Given the description of an element on the screen output the (x, y) to click on. 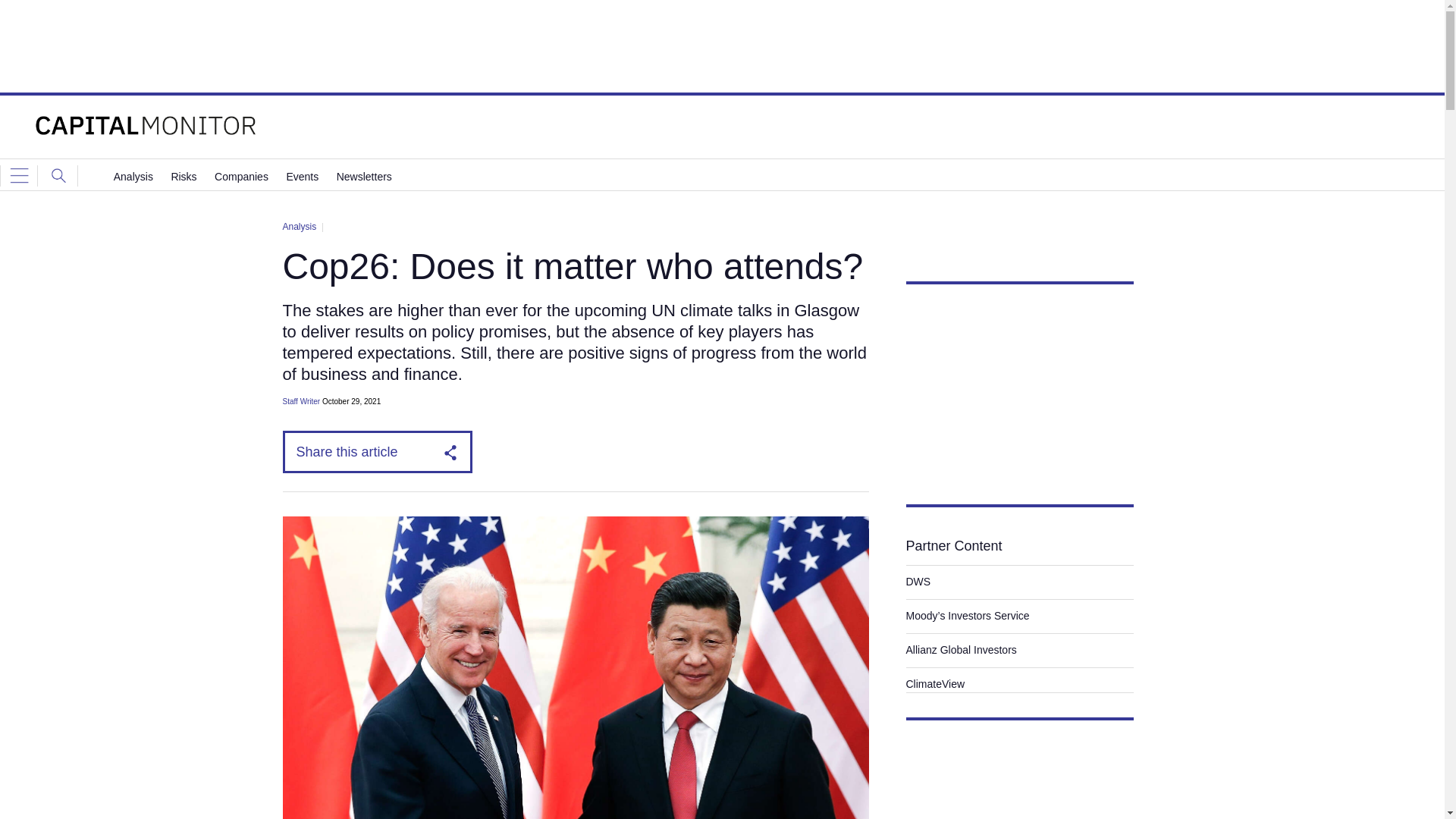
Analysis (298, 226)
3rd party ad content (1018, 384)
Companies (240, 176)
Staff Writer (301, 401)
Analysis (132, 176)
Events (301, 176)
Newsletters (363, 176)
View all posts by Staff Writer (301, 401)
3rd party ad content (721, 46)
